Given the description of an element on the screen output the (x, y) to click on. 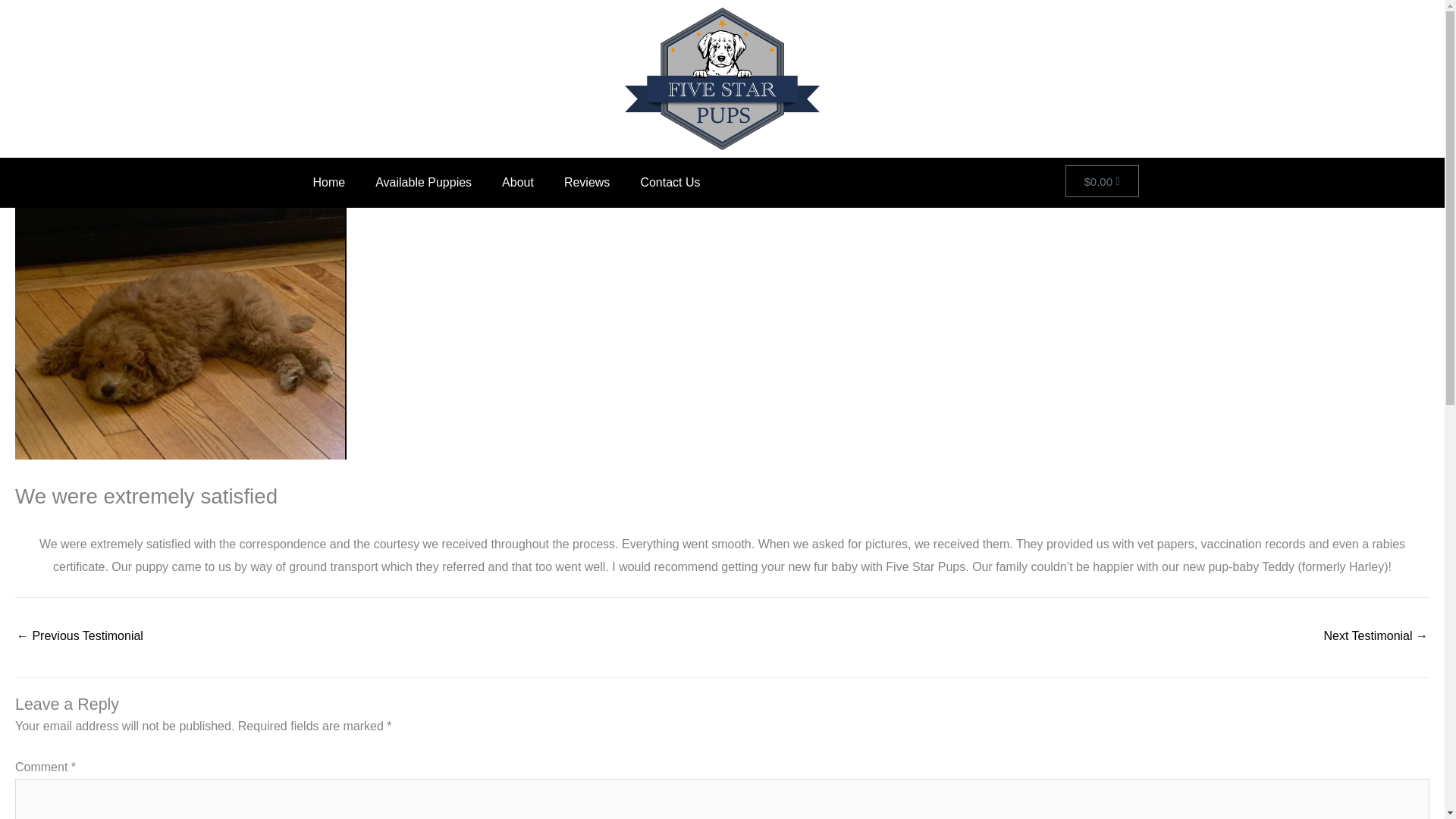
Mini Aussiedoodle (1375, 637)
About (517, 182)
Available Puppies (422, 182)
Get your next puppy here! (79, 637)
Reviews (586, 182)
Home (328, 182)
Contact Us (669, 182)
